Given the description of an element on the screen output the (x, y) to click on. 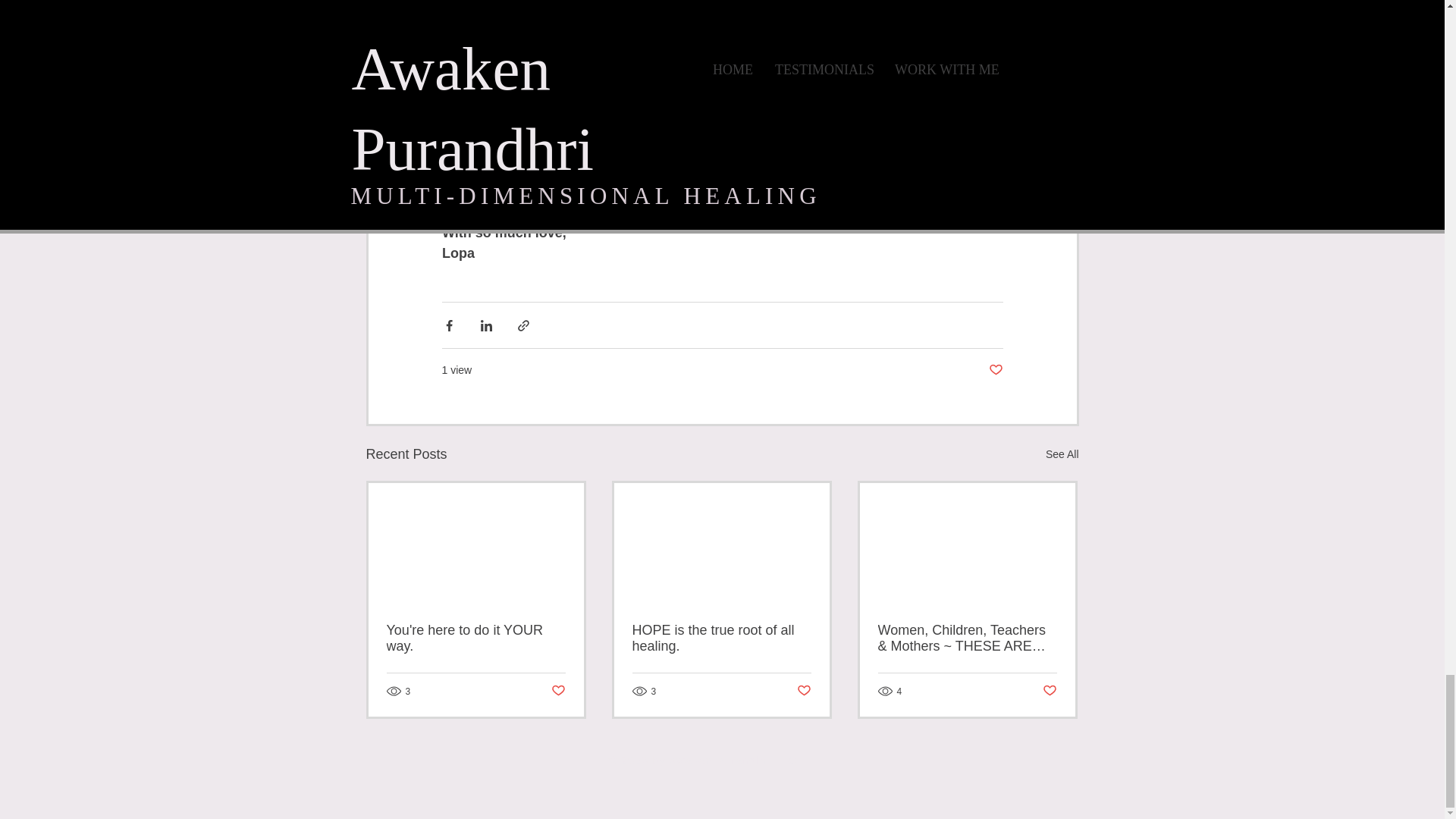
Post not marked as liked (1049, 691)
Post not marked as liked (995, 370)
Post not marked as liked (803, 691)
You're here to do it YOUR way. (476, 638)
See All (1061, 454)
Post not marked as liked (557, 691)
HOPE is the true root of all healing. (720, 638)
